Given the description of an element on the screen output the (x, y) to click on. 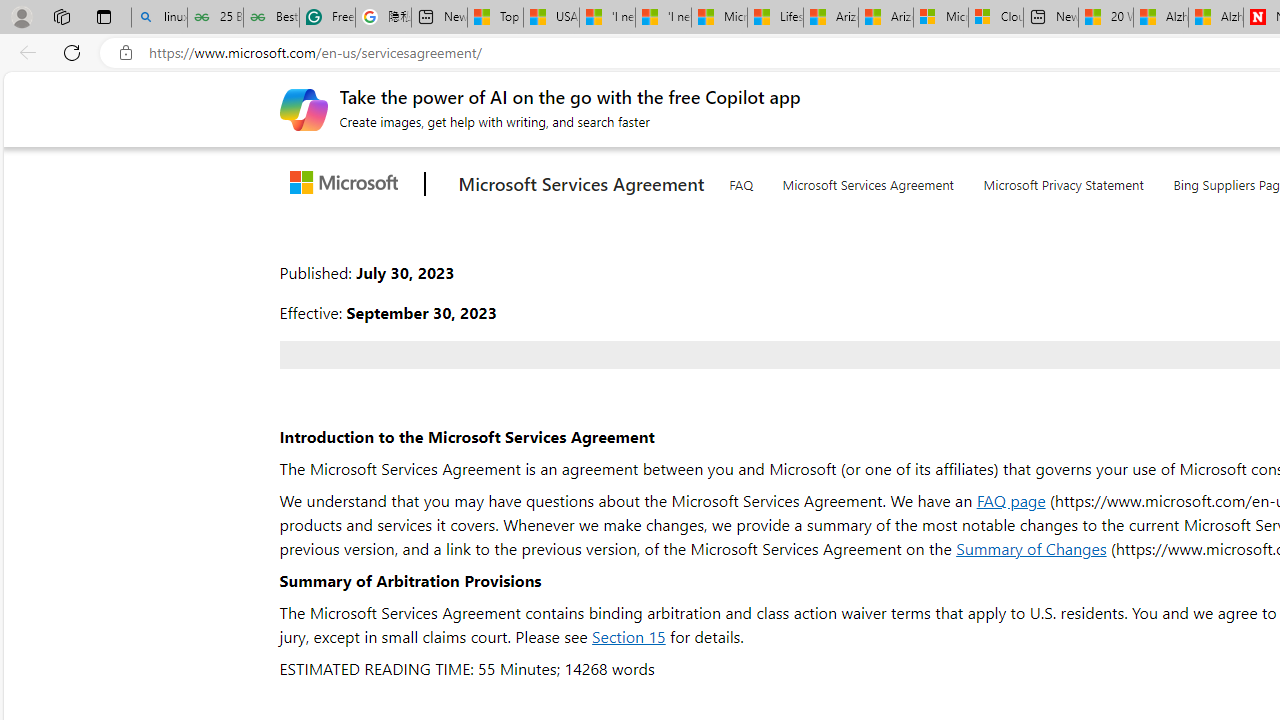
25 Basic Linux Commands For Beginners - GeeksforGeeks (215, 17)
